Given the description of an element on the screen output the (x, y) to click on. 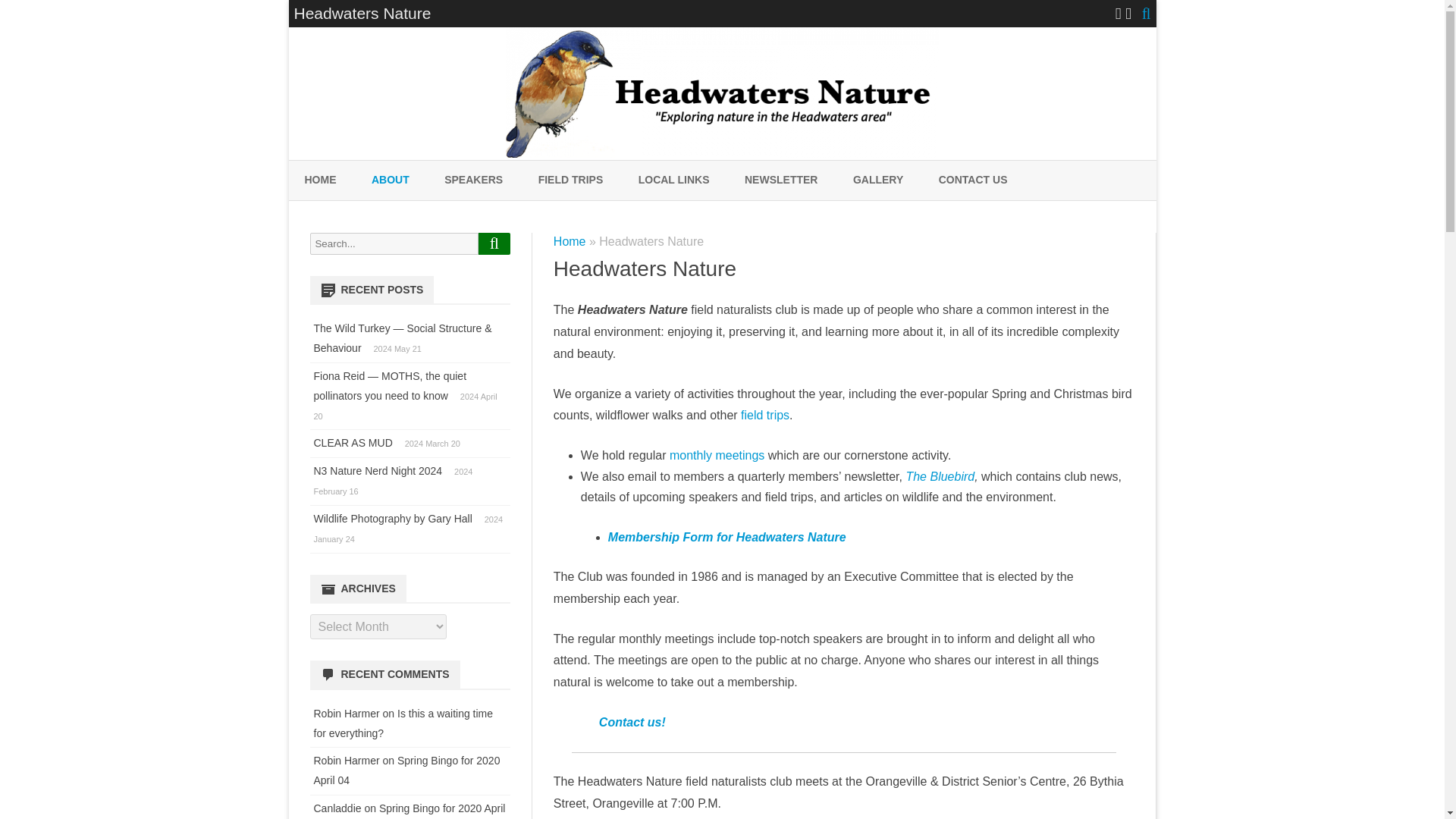
Contact us! (631, 721)
CONTACT US (973, 179)
LOCAL LINKS (674, 179)
FIELD TRIPS (571, 179)
ABOUT (390, 179)
monthly meetings (716, 454)
GALLERY (877, 179)
Search (495, 243)
